Given the description of an element on the screen output the (x, y) to click on. 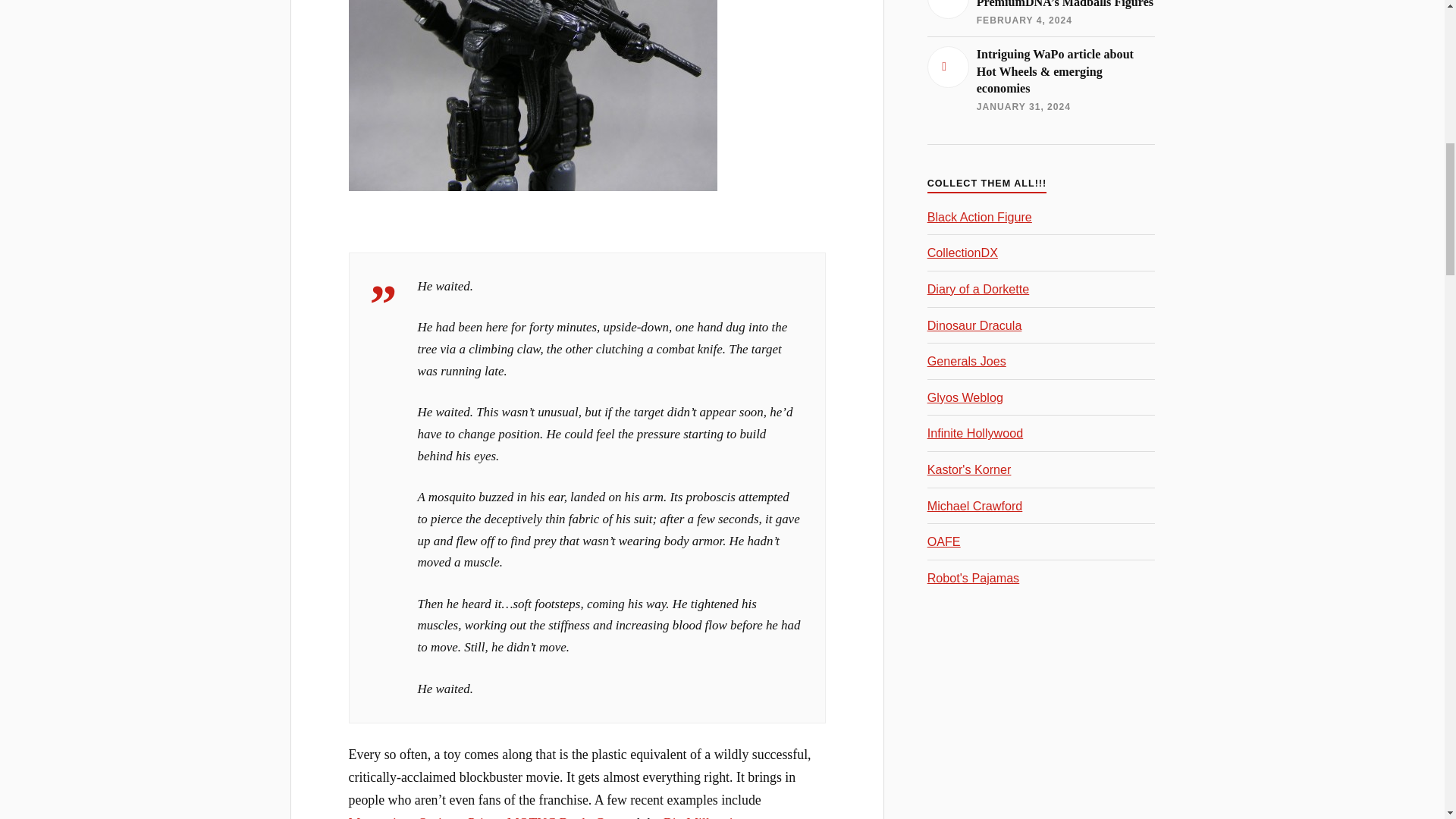
Masterpiece Optimus Prime (424, 817)
MOTUC Battle Cat (560, 817)
snake-eyes-pursuit-cobra-6 (533, 95)
